Given the description of an element on the screen output the (x, y) to click on. 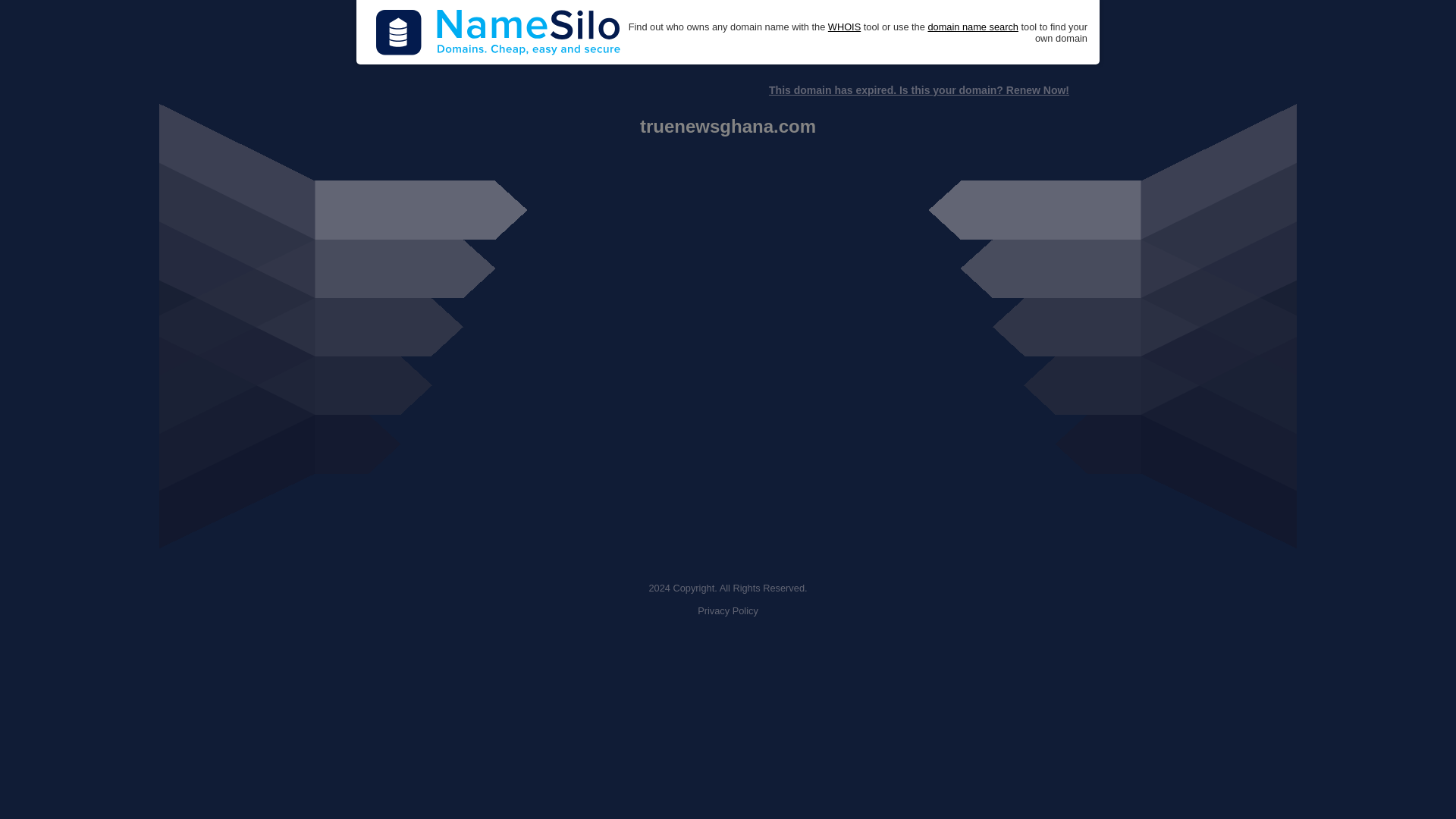
This domain has expired. Is this your domain? Renew Now! (918, 90)
WHOIS (844, 26)
Privacy Policy (727, 610)
domain name search (972, 26)
